Given the description of an element on the screen output the (x, y) to click on. 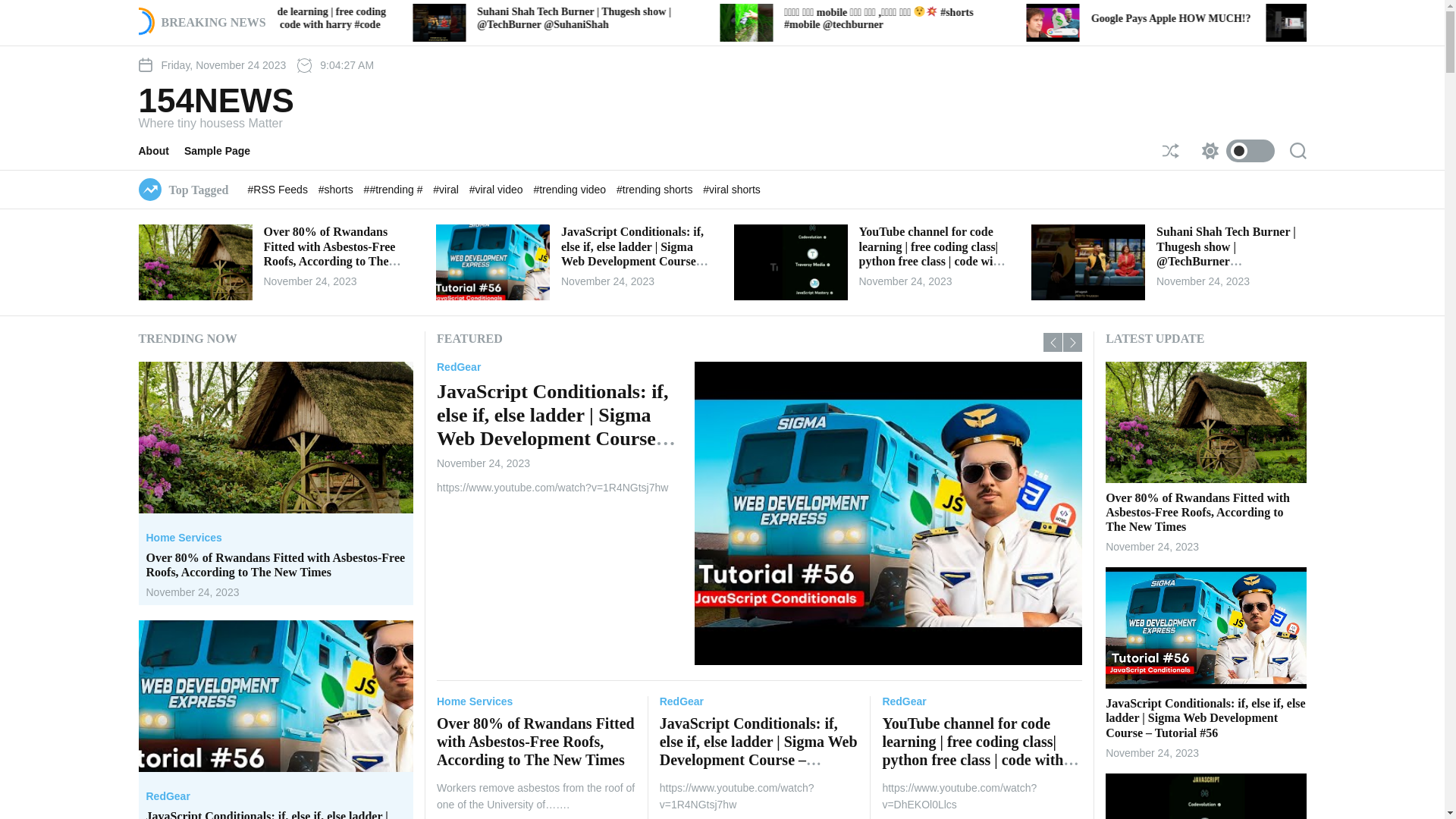
Shuffle Element type: text (1169, 150)
#shorts Element type: text (337, 189)
#viral video Element type: text (497, 189)
RedGear Element type: text (167, 795)
Sample Page Element type: text (224, 150)
Home Services Element type: text (474, 366)
154NEWS Element type: text (215, 100)
##trending # Element type: text (395, 189)
#viral shorts Element type: text (730, 189)
#trending video Element type: text (570, 189)
#viral Element type: text (447, 189)
RedGear Element type: text (1104, 366)
RedGear Element type: text (903, 701)
Search Element type: text (1297, 150)
About Element type: text (160, 150)
Switch color mode Element type: text (1233, 150)
#trending shorts Element type: text (655, 189)
RedGear Element type: text (681, 701)
Home Services Element type: text (474, 701)
Home Services Element type: text (183, 537)
#RSS Feeds Element type: text (278, 189)
